Given the description of an element on the screen output the (x, y) to click on. 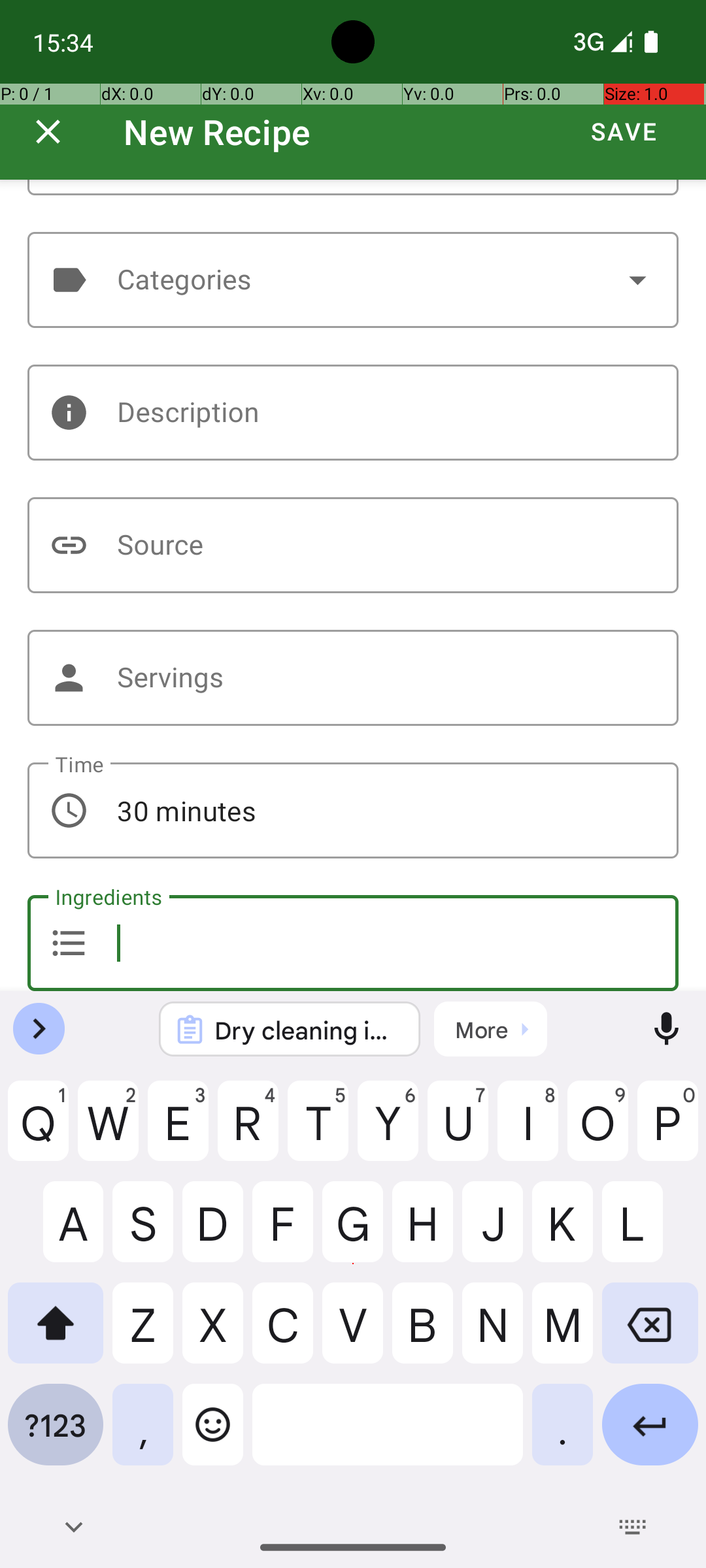
30 minutes Element type: android.widget.EditText (352, 810)
Dry cleaning is ready for pick-up. Element type: android.widget.TextView (306, 1029)
